Given the description of an element on the screen output the (x, y) to click on. 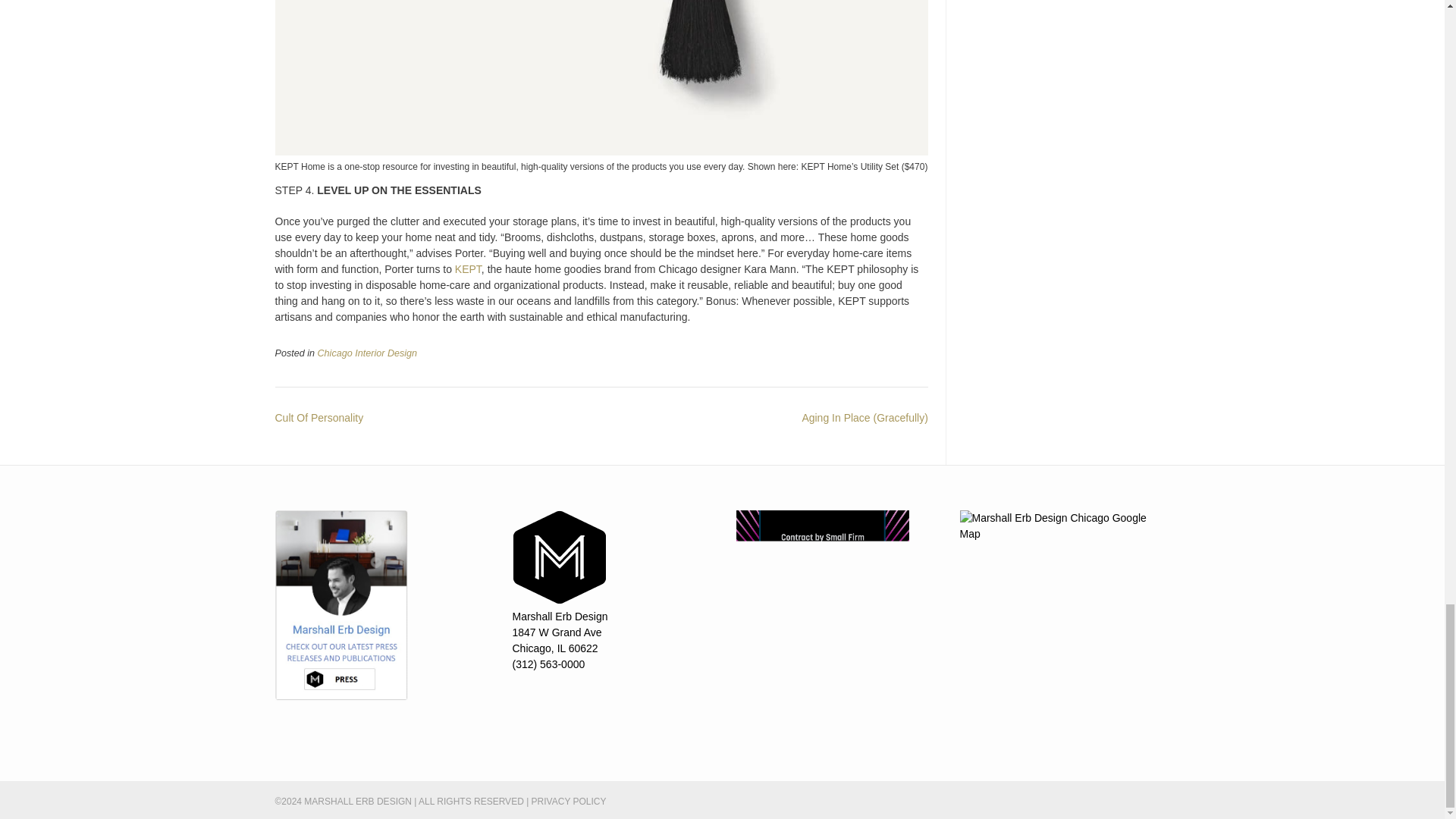
Chicago Interior Design (367, 353)
Organized Home, Clear Mind 3 (601, 77)
KEPT (467, 268)
PRIVACY POLICY (569, 801)
Cult Of Personality (318, 417)
